Given the description of an element on the screen output the (x, y) to click on. 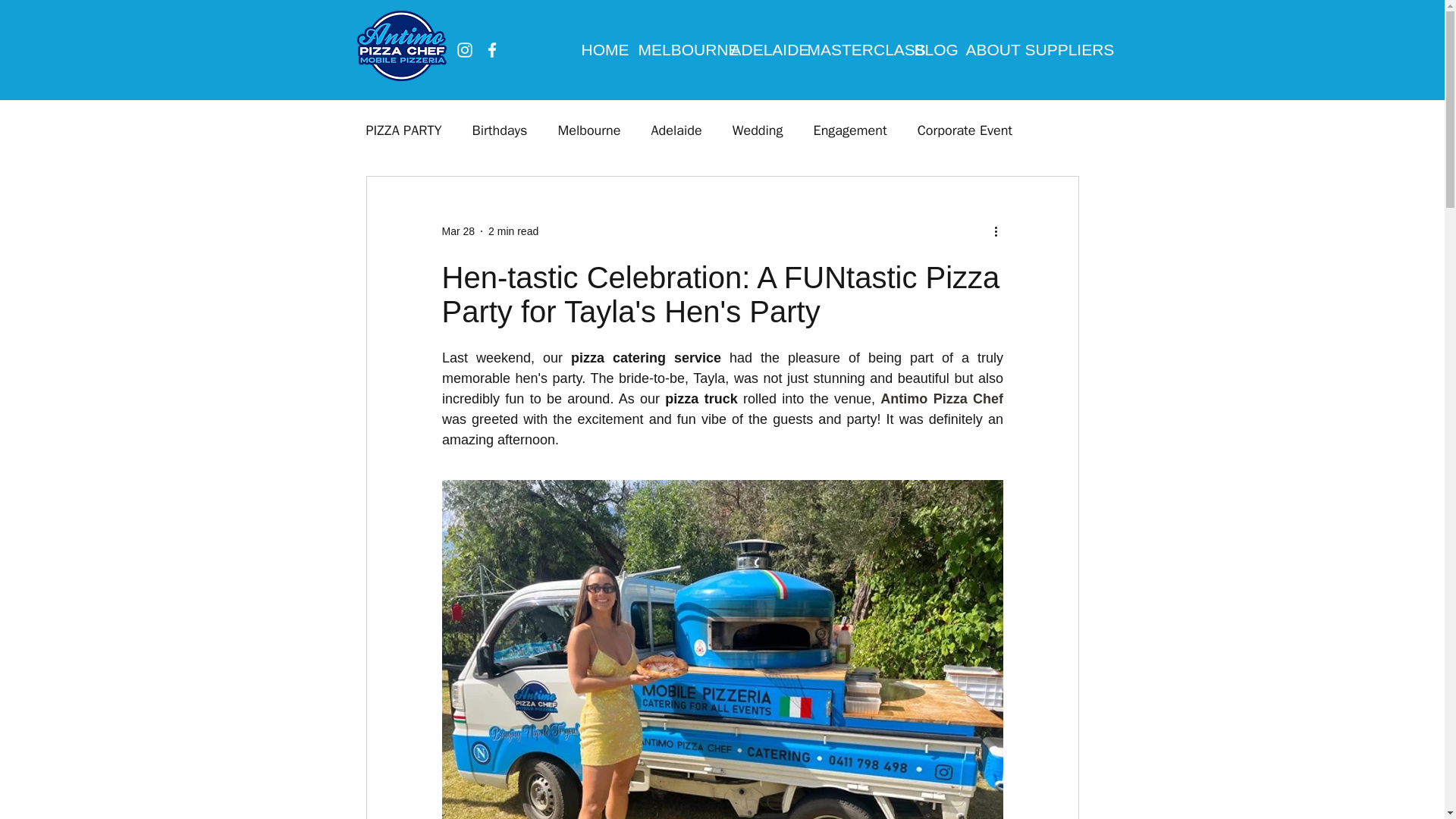
Birthdays (499, 130)
Melbourne (588, 130)
Wedding (757, 130)
Corporate Event (964, 130)
HOME (598, 49)
2 min read (512, 230)
Engagement (849, 130)
PIZZA PARTY (403, 130)
ADELAIDE (756, 49)
Antimo Pizza Chef (941, 398)
